Given the description of an element on the screen output the (x, y) to click on. 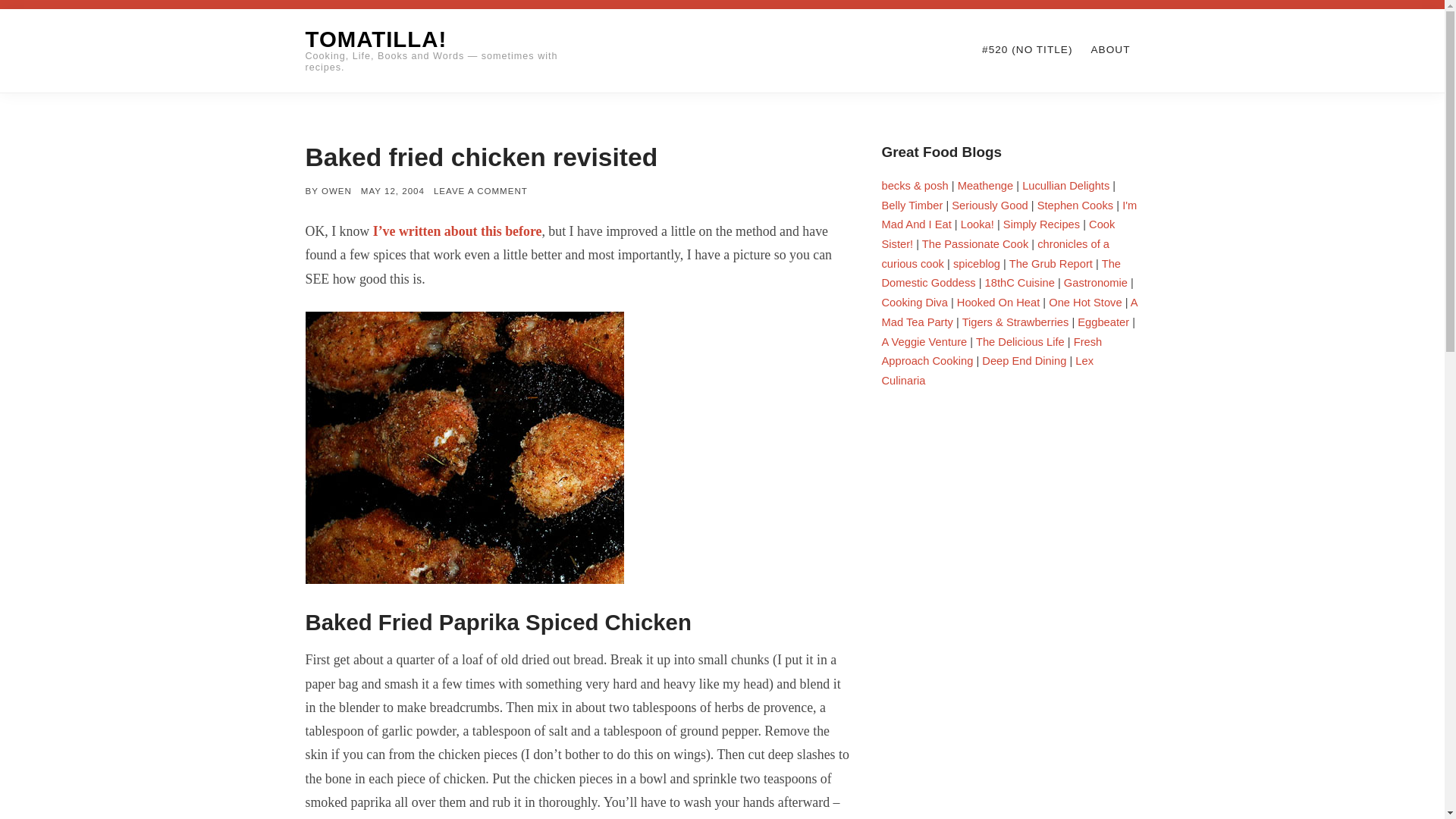
The Grub Report (1051, 263)
Fresh Approach Cooking (991, 351)
A Mad Tea Party (1008, 312)
MAY 12, 2004 (393, 190)
Cook Sister! (997, 234)
Recipes and best of food in SF with a British twist (913, 185)
The Domestic Goddess (999, 273)
A Veggie Venture (923, 341)
TOMATILLA! (375, 38)
